Given the description of an element on the screen output the (x, y) to click on. 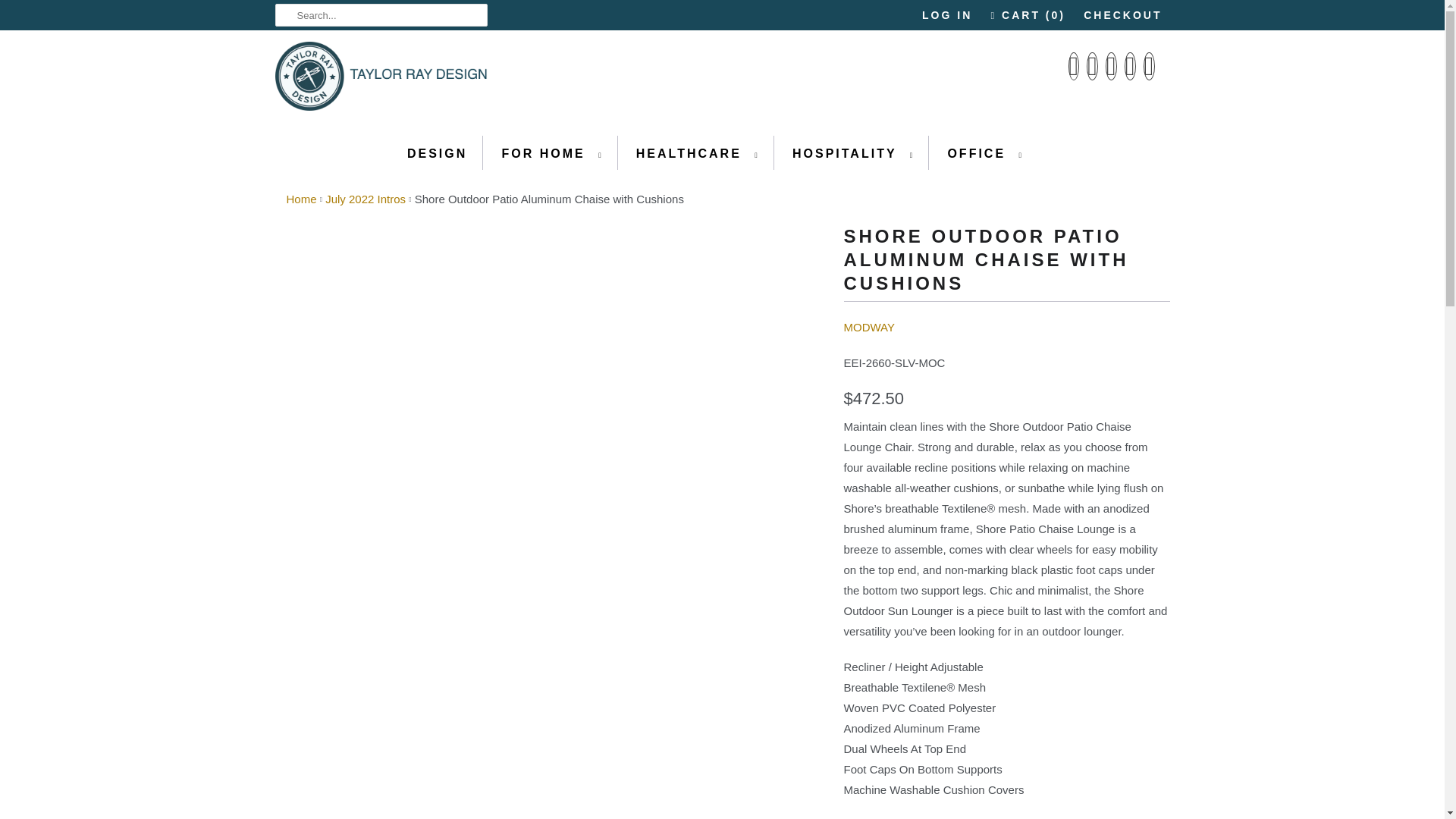
LOG IN (946, 15)
CHECKOUT (1122, 15)
July 2022 Intros (365, 198)
DESIGN (437, 153)
taylor ray decor (380, 80)
taylor ray decor (301, 198)
FOR HOME  (550, 153)
